Given the description of an element on the screen output the (x, y) to click on. 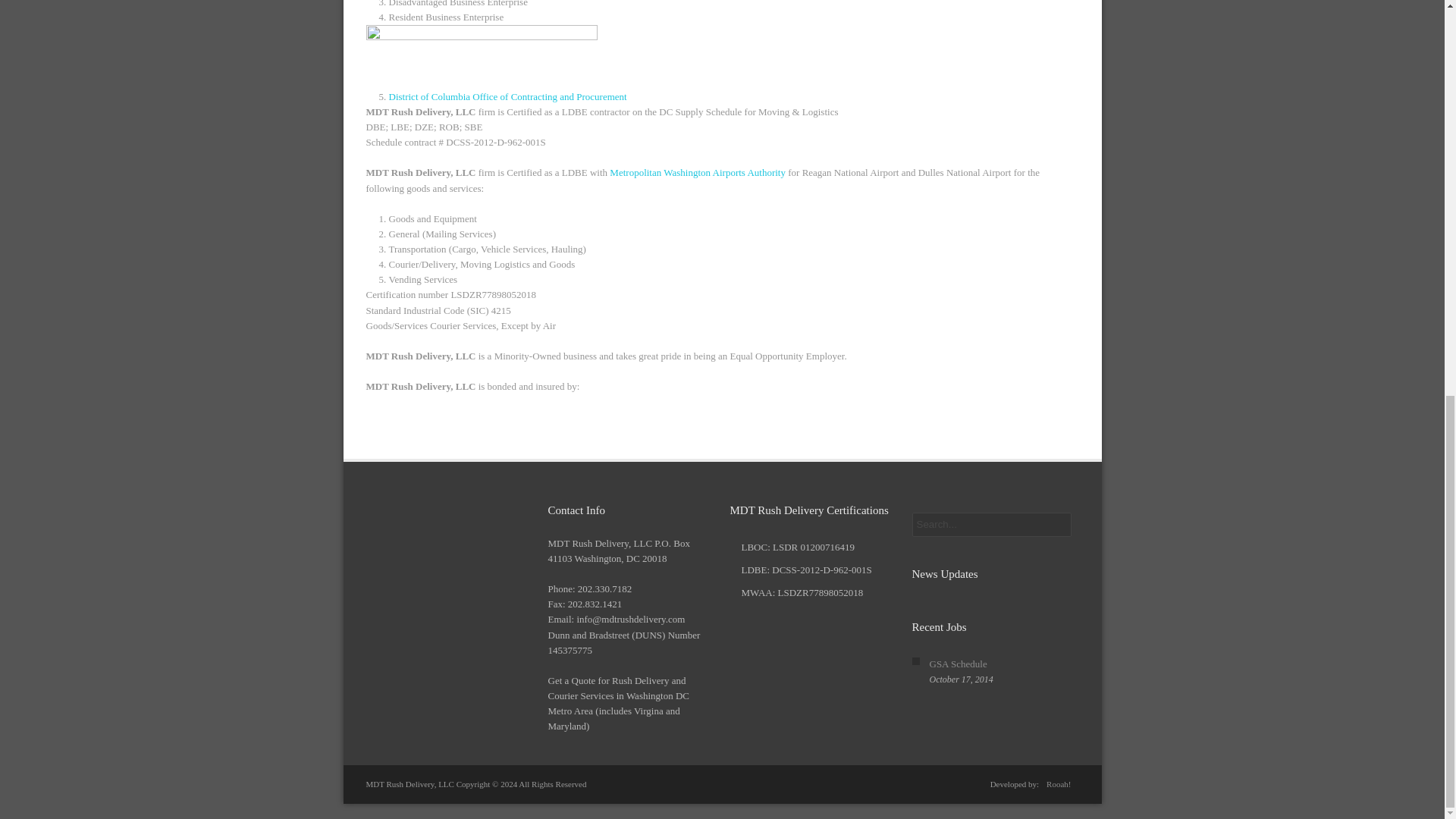
Rooah! (1058, 783)
District of Columbia Office of Contracting and Procurement (507, 96)
Search... (990, 524)
Metropolitan Washington Airports Authority (696, 172)
GSA Schedule (958, 663)
